Given the description of an element on the screen output the (x, y) to click on. 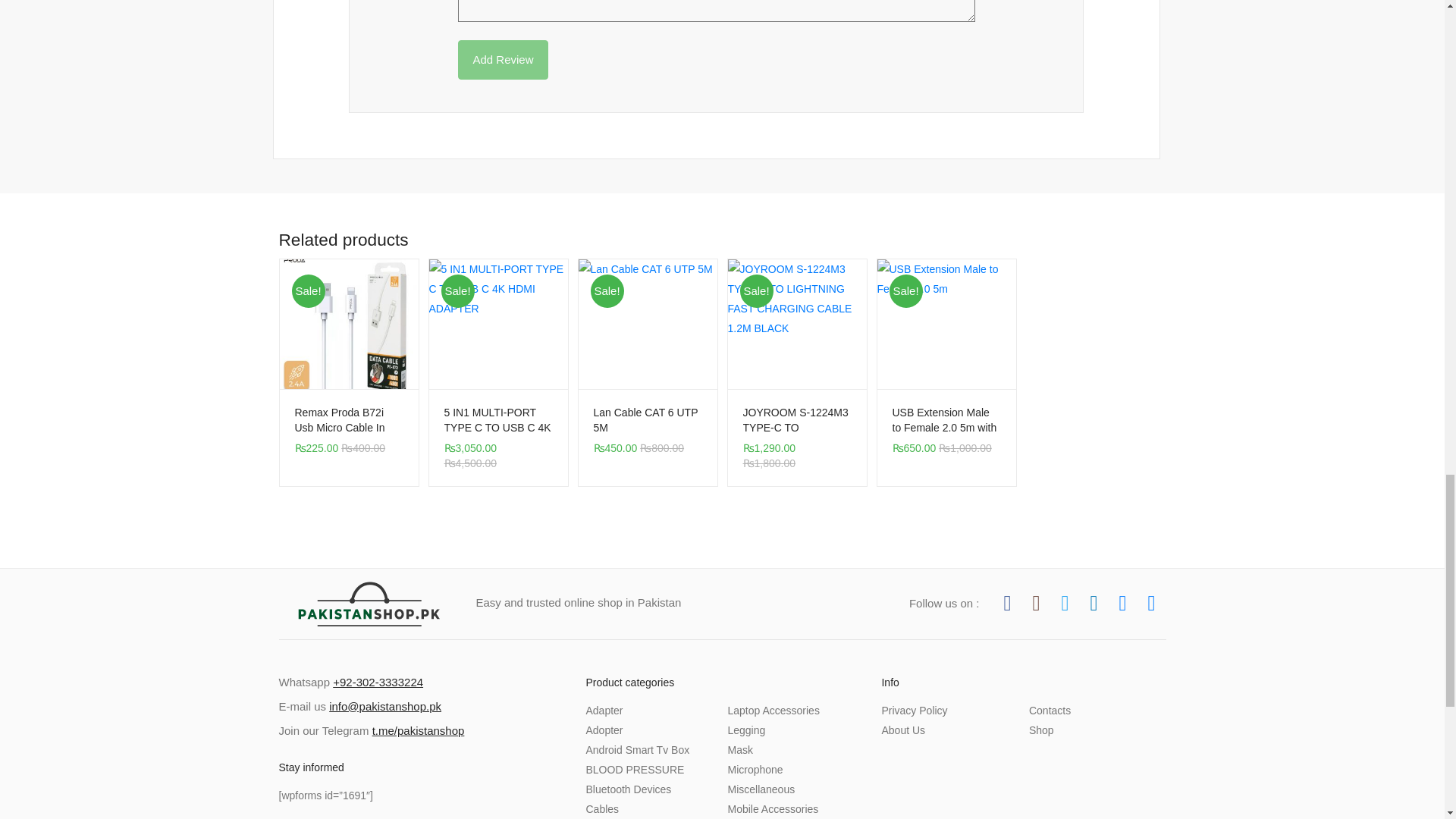
Add Review (502, 59)
